Given the description of an element on the screen output the (x, y) to click on. 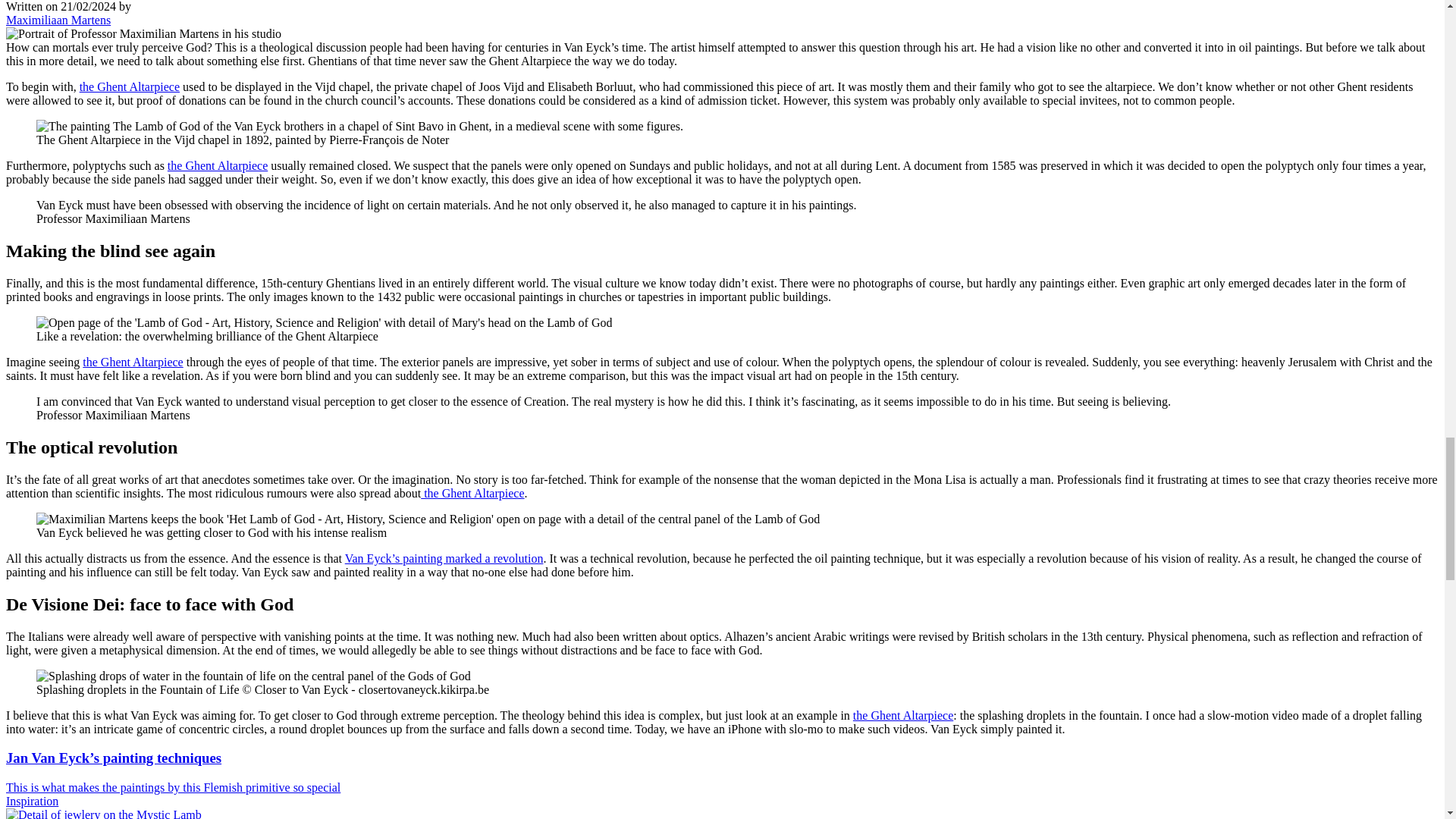
Maximiliaan Martens (57, 19)
